Given the description of an element on the screen output the (x, y) to click on. 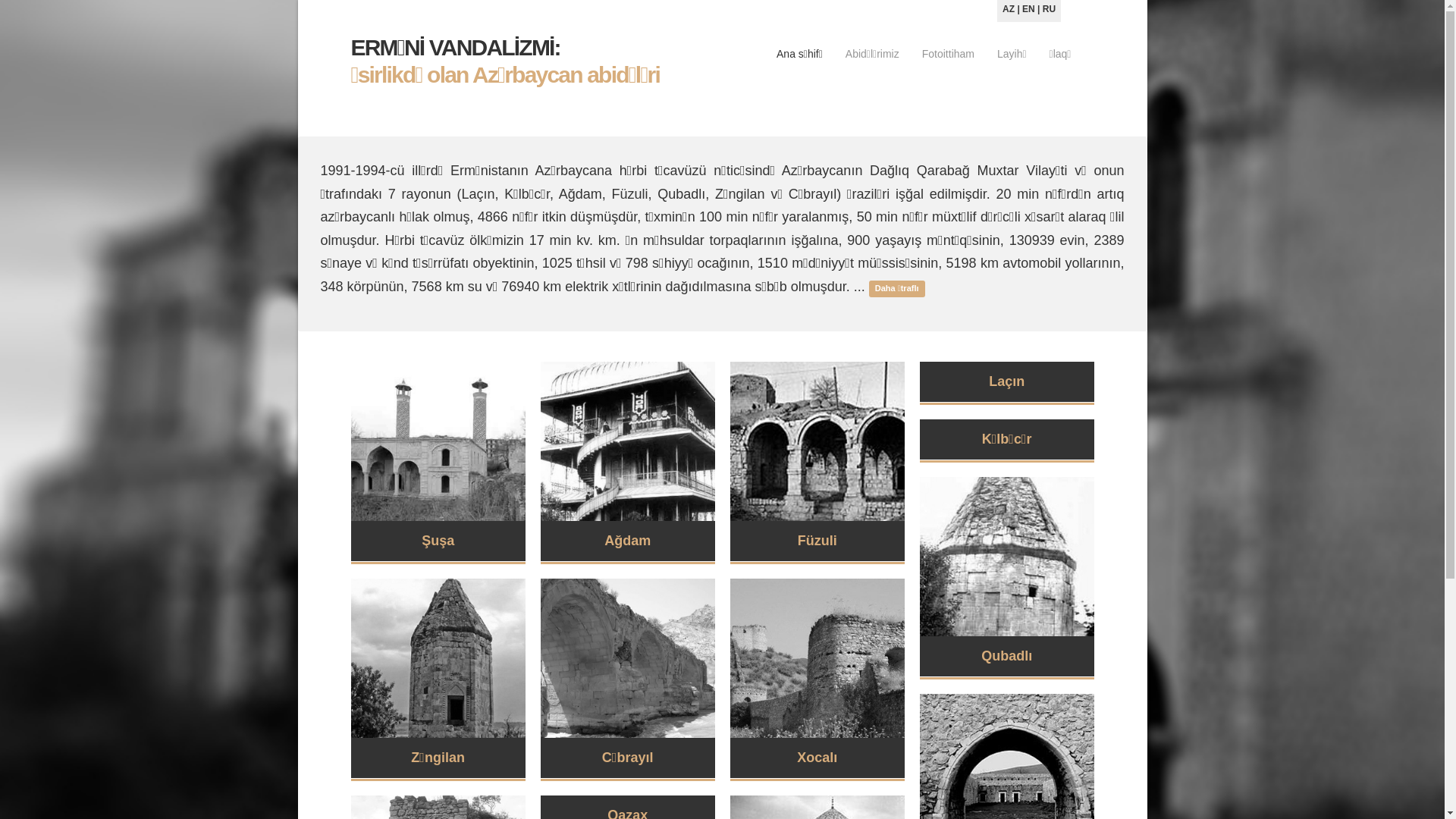
RU Element type: text (1048, 8)
EN Element type: text (1028, 8)
AZ Element type: text (1008, 8)
Fotoittiham Element type: text (948, 56)
